Given the description of an element on the screen output the (x, y) to click on. 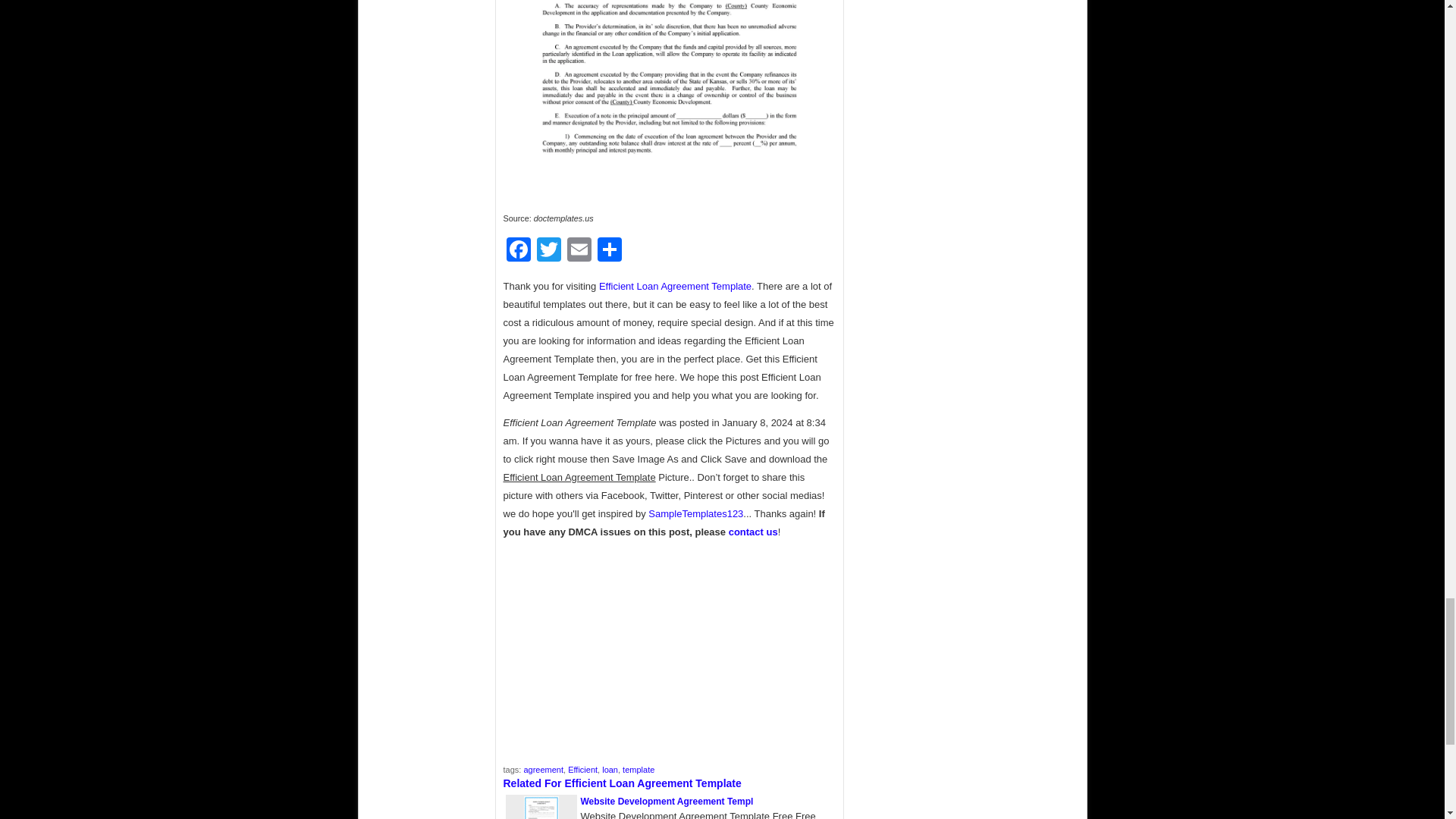
contact us (753, 531)
Facebook (518, 251)
agreement (542, 768)
Website Development Agreement Template (667, 801)
SampleTemplates123 (694, 513)
Efficient (581, 768)
template (638, 768)
Email (579, 251)
Facebook (518, 251)
Efficient Loan Agreement Template (674, 285)
Twitter (549, 251)
Website Development Agreement Templ (667, 801)
Share (609, 251)
Twitter (549, 251)
loan (609, 768)
